Given the description of an element on the screen output the (x, y) to click on. 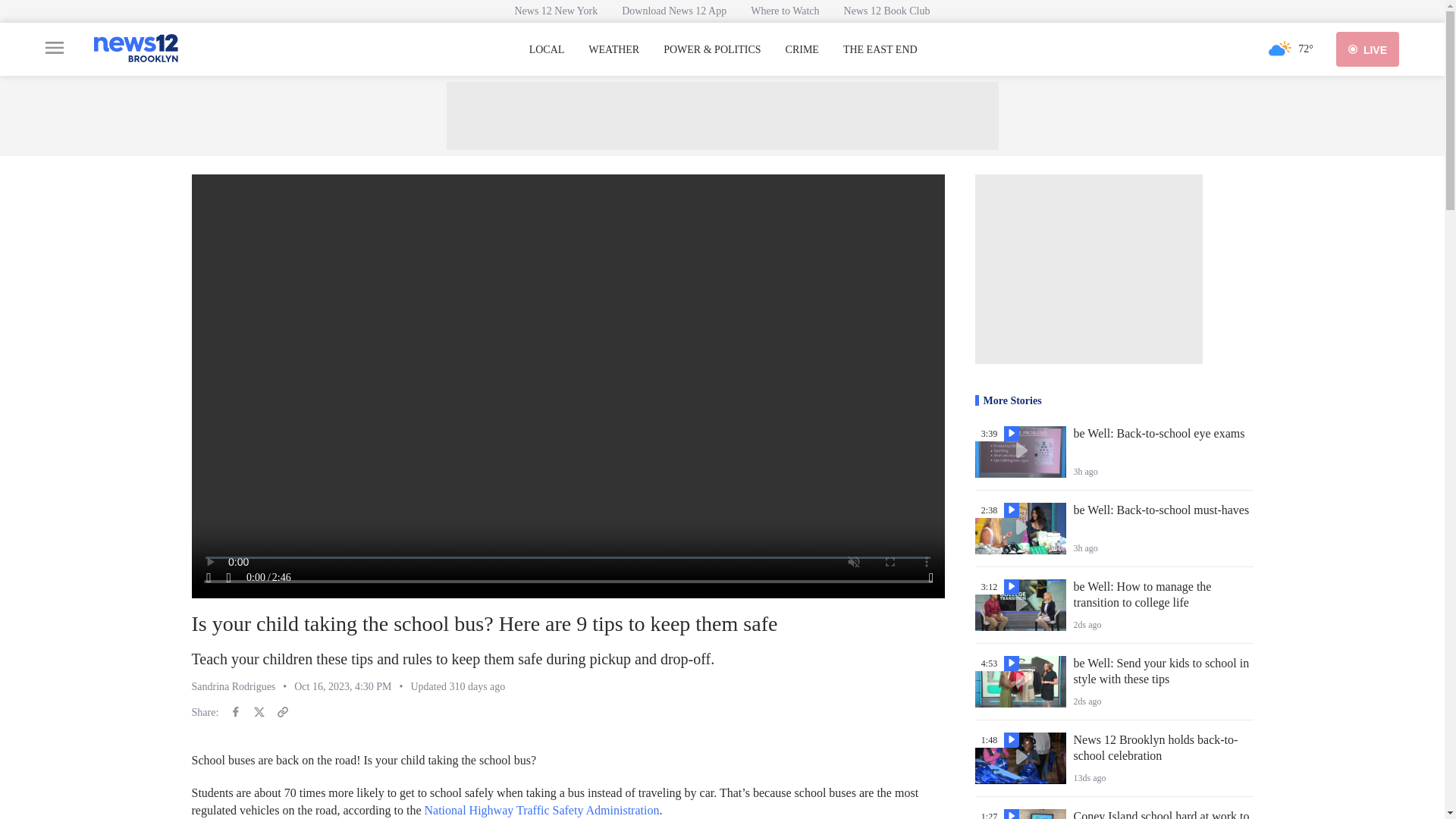
CRIME (802, 49)
News 12 New York (556, 11)
Partly Cloudy (1280, 48)
THE EAST END (880, 49)
Download News 12 App (673, 11)
Where to Watch (784, 11)
News 12 Book Club (886, 11)
WEATHER (613, 49)
LIVE (1367, 48)
LOCAL (546, 49)
